Given the description of an element on the screen output the (x, y) to click on. 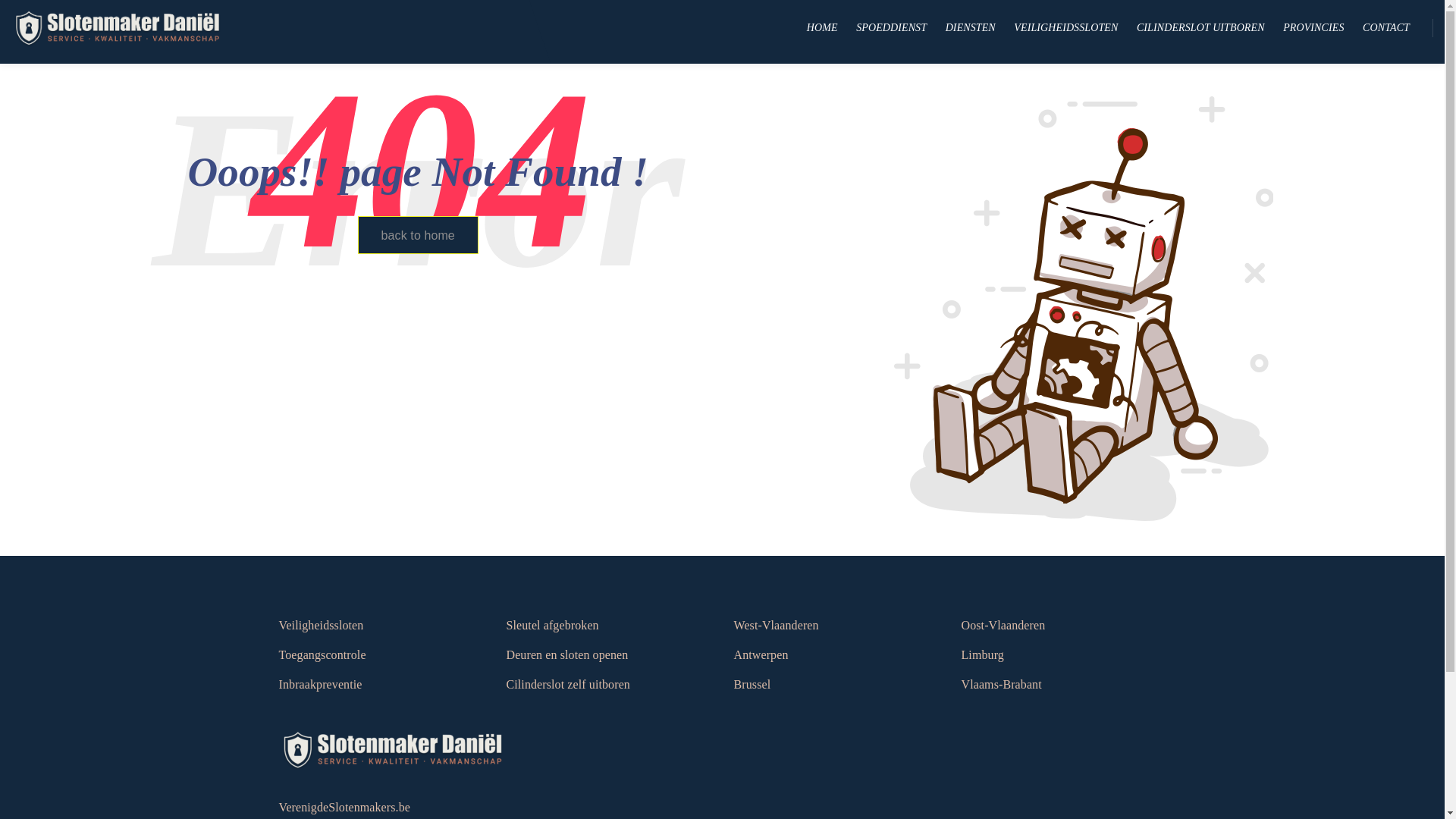
Inbraakpreventie Element type: text (320, 684)
back to home Element type: text (417, 235)
West-Vlaanderen Element type: text (776, 625)
Antwerpen Element type: text (761, 655)
Sleutel afgebroken Element type: text (552, 625)
Limburg Element type: text (982, 655)
DIENSTEN Element type: text (970, 27)
Toegangscontrole Element type: text (322, 655)
Deuren en sloten openen Element type: text (567, 655)
VEILIGHEIDSSLOTEN Element type: text (1065, 27)
Veiligheidssloten Element type: text (321, 625)
PROVINCIES Element type: text (1313, 27)
SPOEDDIENST Element type: text (891, 27)
Cilinderslot zelf uitboren Element type: text (568, 684)
Brussel Element type: text (752, 684)
CONTACT Element type: text (1385, 27)
Vlaams-Brabant Element type: text (1001, 684)
HOME Element type: text (821, 27)
CILINDERSLOT UITBOREN Element type: text (1200, 27)
Oost-Vlaanderen Element type: text (1003, 625)
